Given the description of an element on the screen output the (x, y) to click on. 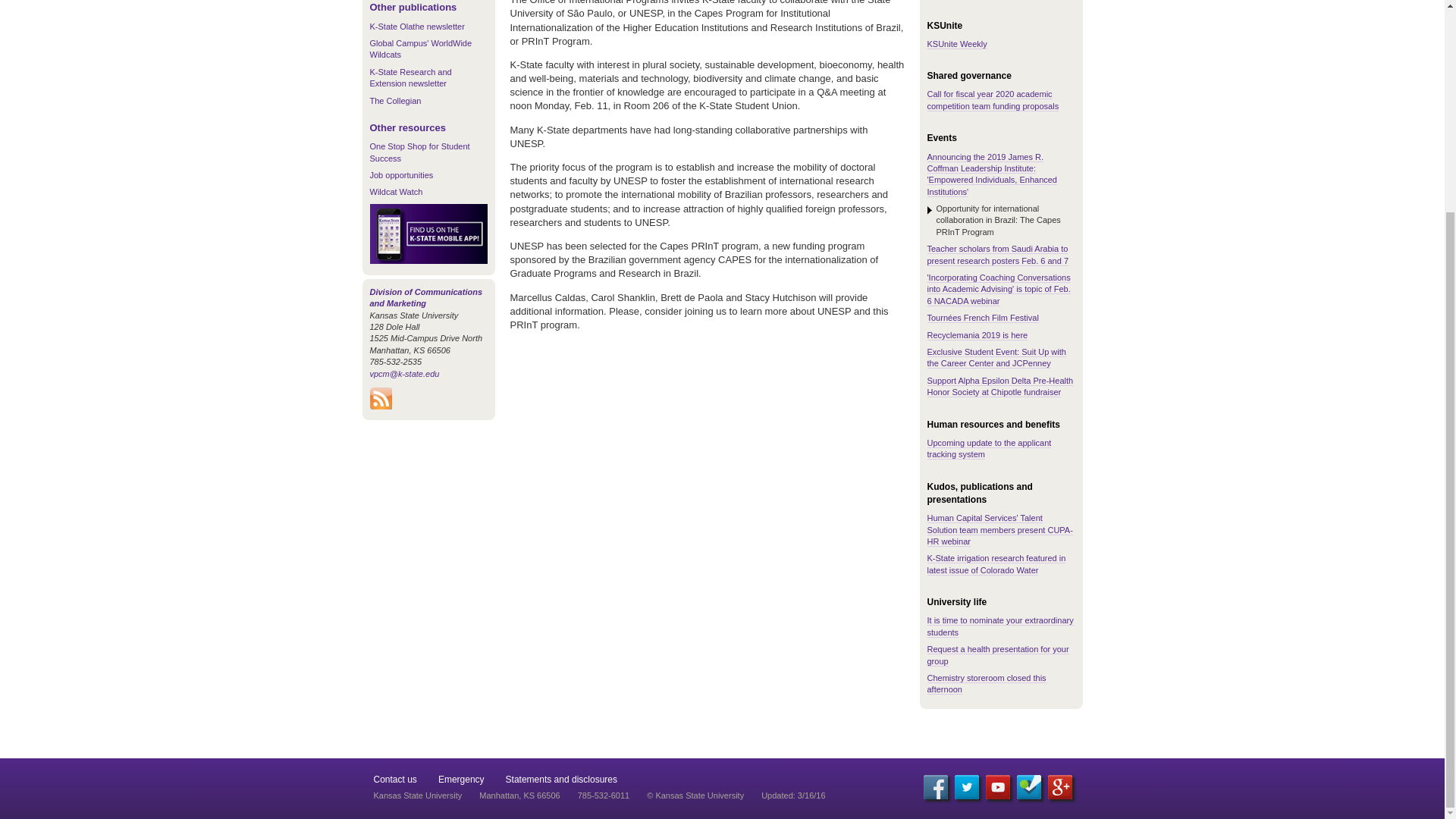
The Recyclemania competition continues through March 30.  (976, 335)
One Stop Shop for Student Success (419, 151)
Job opportunities (401, 174)
Wildcat Watch (396, 191)
